Given the description of an element on the screen output the (x, y) to click on. 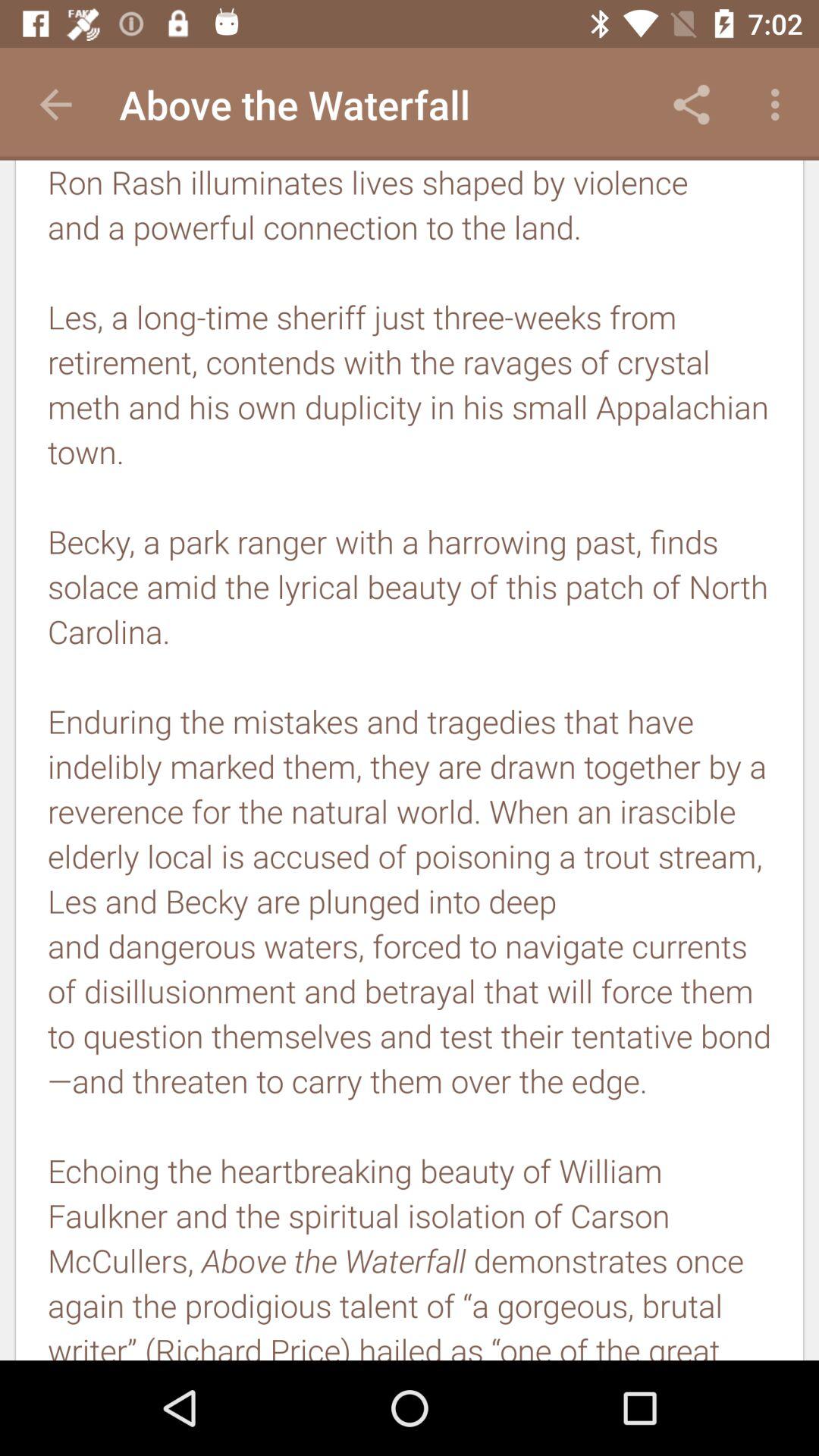
turn on app to the right of above the waterfall (691, 104)
